Given the description of an element on the screen output the (x, y) to click on. 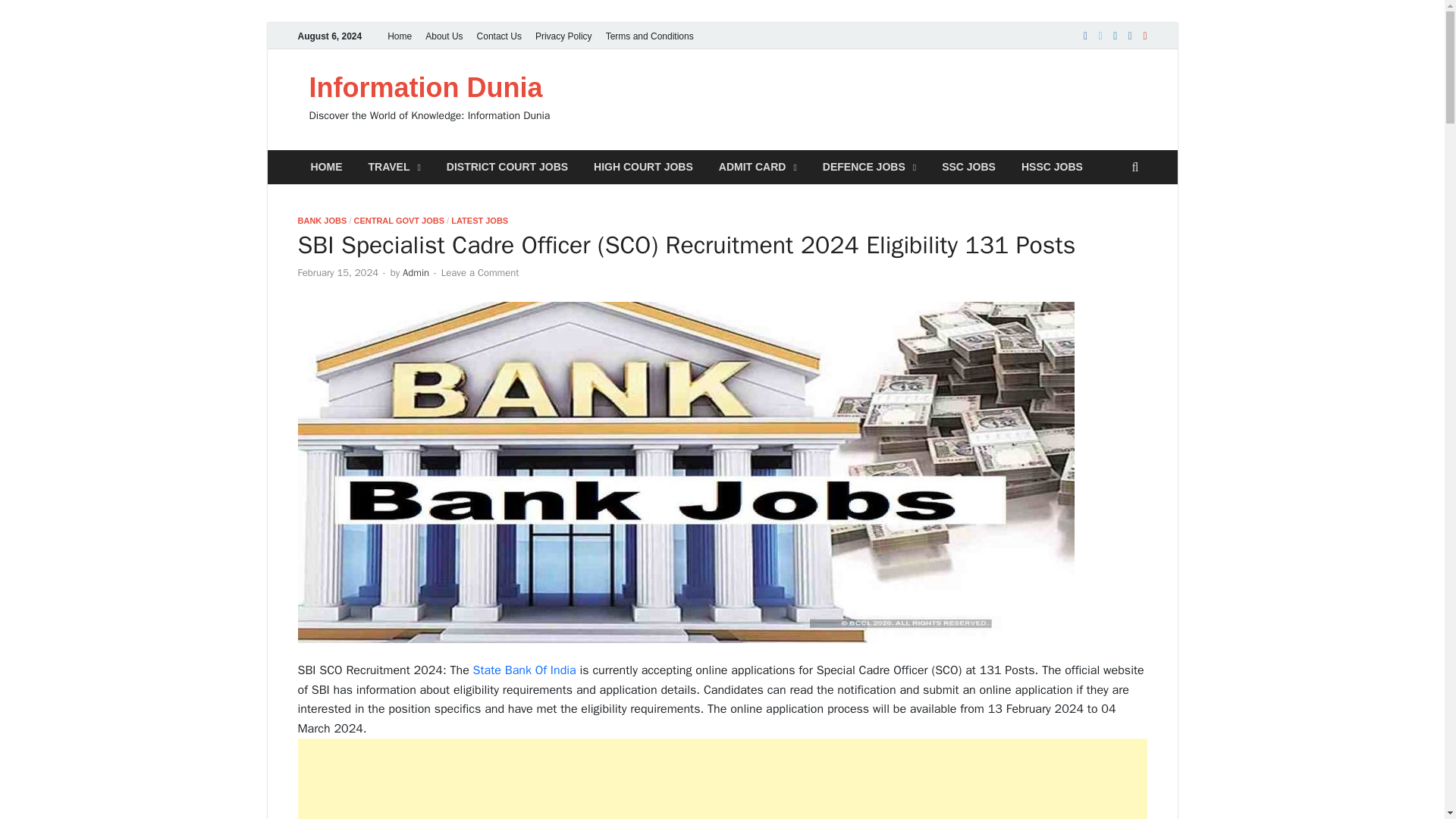
CENTRAL GOVT JOBS (398, 220)
Privacy Policy (563, 35)
Contact Us (499, 35)
Terms and Conditions (649, 35)
About Us (443, 35)
HSSC JOBS (1052, 166)
Leave a Comment (480, 272)
HIGH COURT JOBS (643, 166)
BANK JOBS (321, 220)
Admin (416, 272)
